Given the description of an element on the screen output the (x, y) to click on. 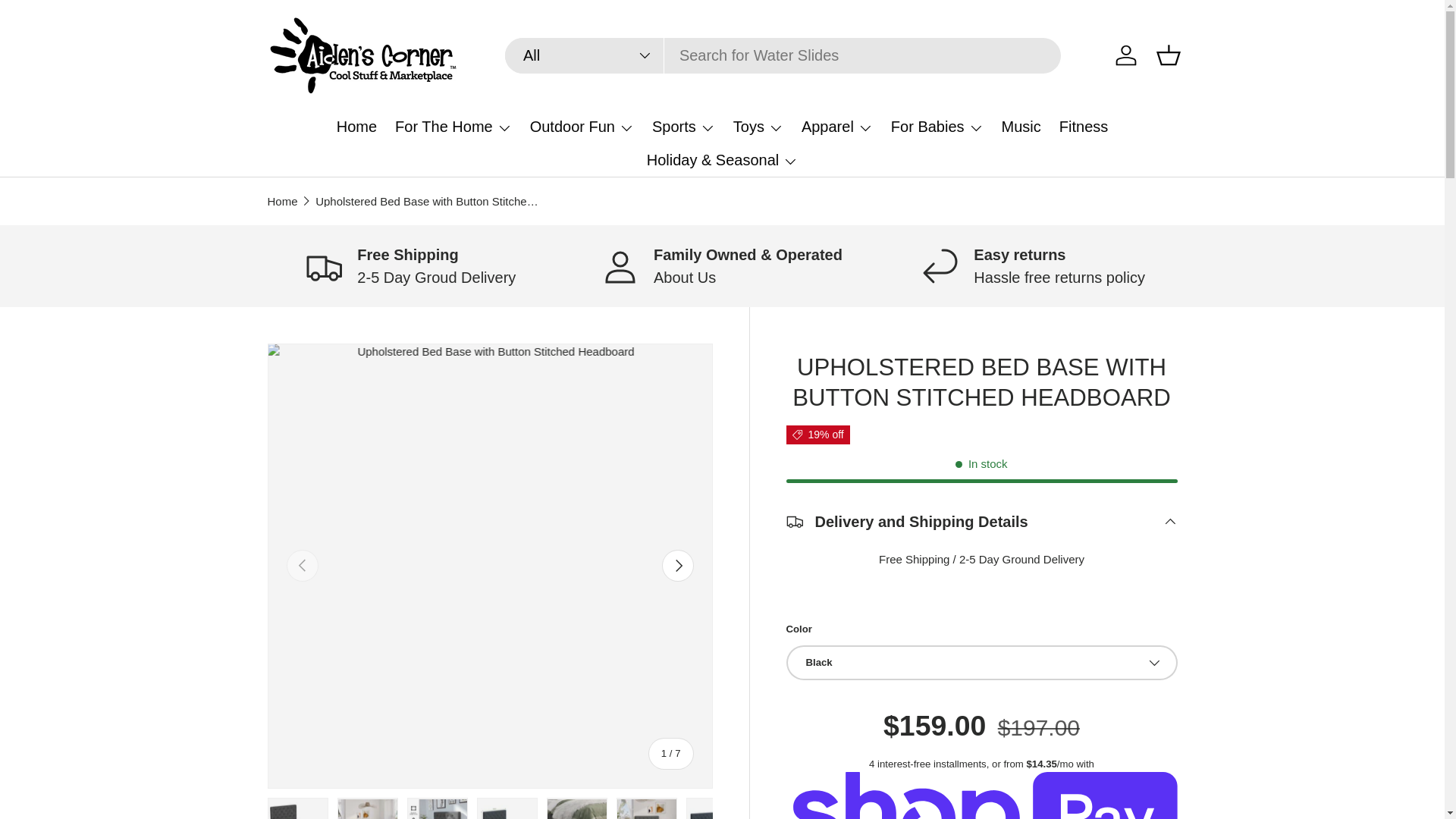
All (584, 55)
Basket (1168, 54)
Outdoor Fun (581, 126)
For The Home (453, 126)
SKIP TO CONTENT (69, 21)
Log in (1124, 54)
Home (356, 126)
